Given the description of an element on the screen output the (x, y) to click on. 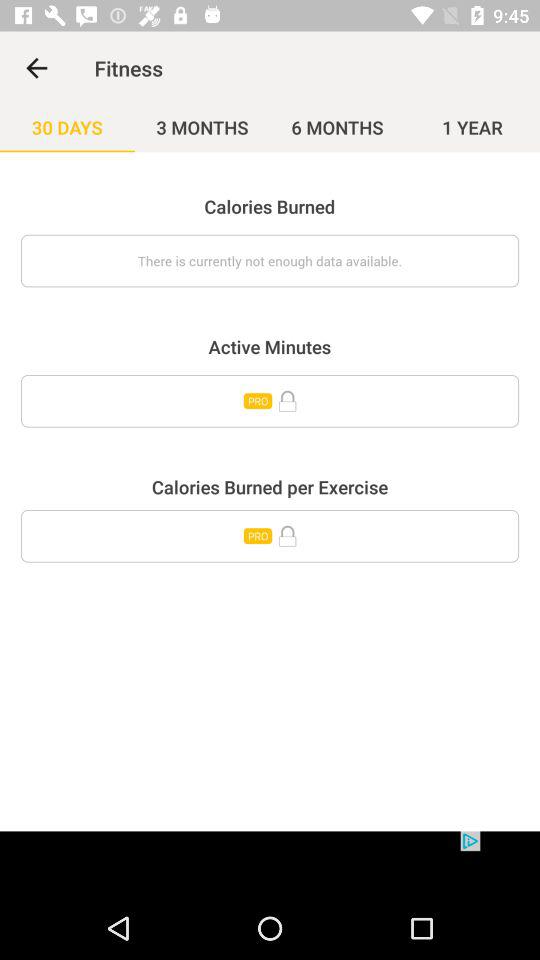
choose icon below the calories burned per item (269, 536)
